Given the description of an element on the screen output the (x, y) to click on. 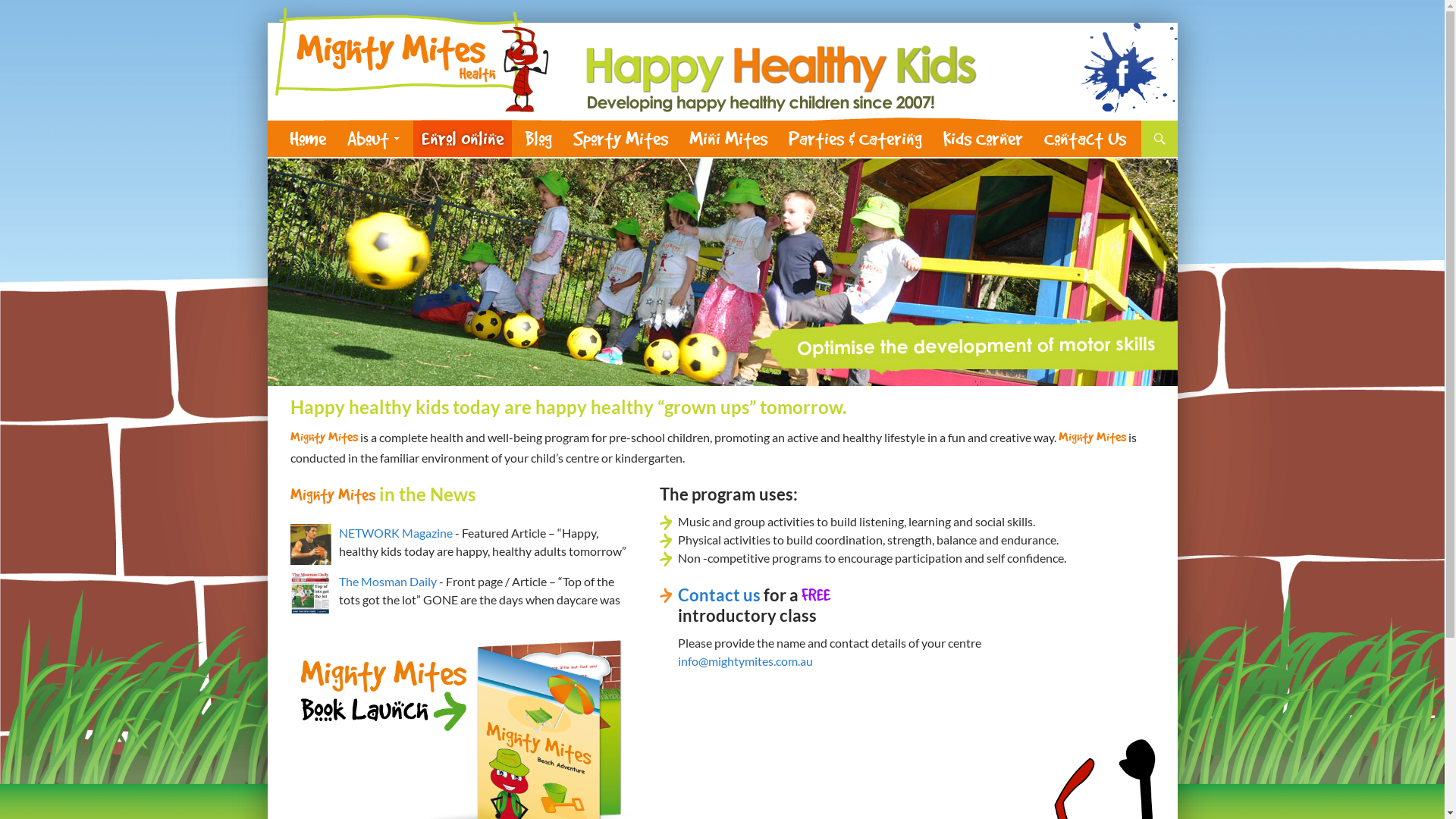
Kids Corner Element type: text (982, 138)
Parties & Catering Element type: text (854, 138)
NETWORK Magazine Element type: text (394, 532)
Mighty Mites Facebook Page Element type: hover (1127, 66)
Enrol Online Element type: text (461, 138)
Contact Us Element type: text (1084, 138)
Mighty Mites Element type: text (317, 138)
The Mosman Daily Element type: text (387, 581)
Home Element type: text (306, 138)
About Element type: text (372, 138)
info@mightymites.com.au Element type: text (744, 660)
Blog Element type: text (537, 138)
Sporty Mites Element type: text (619, 138)
Contact us Element type: text (718, 594)
Skip to content Element type: text (344, 137)
Search Element type: text (288, 129)
Mini Mites Element type: text (727, 138)
